Given the description of an element on the screen output the (x, y) to click on. 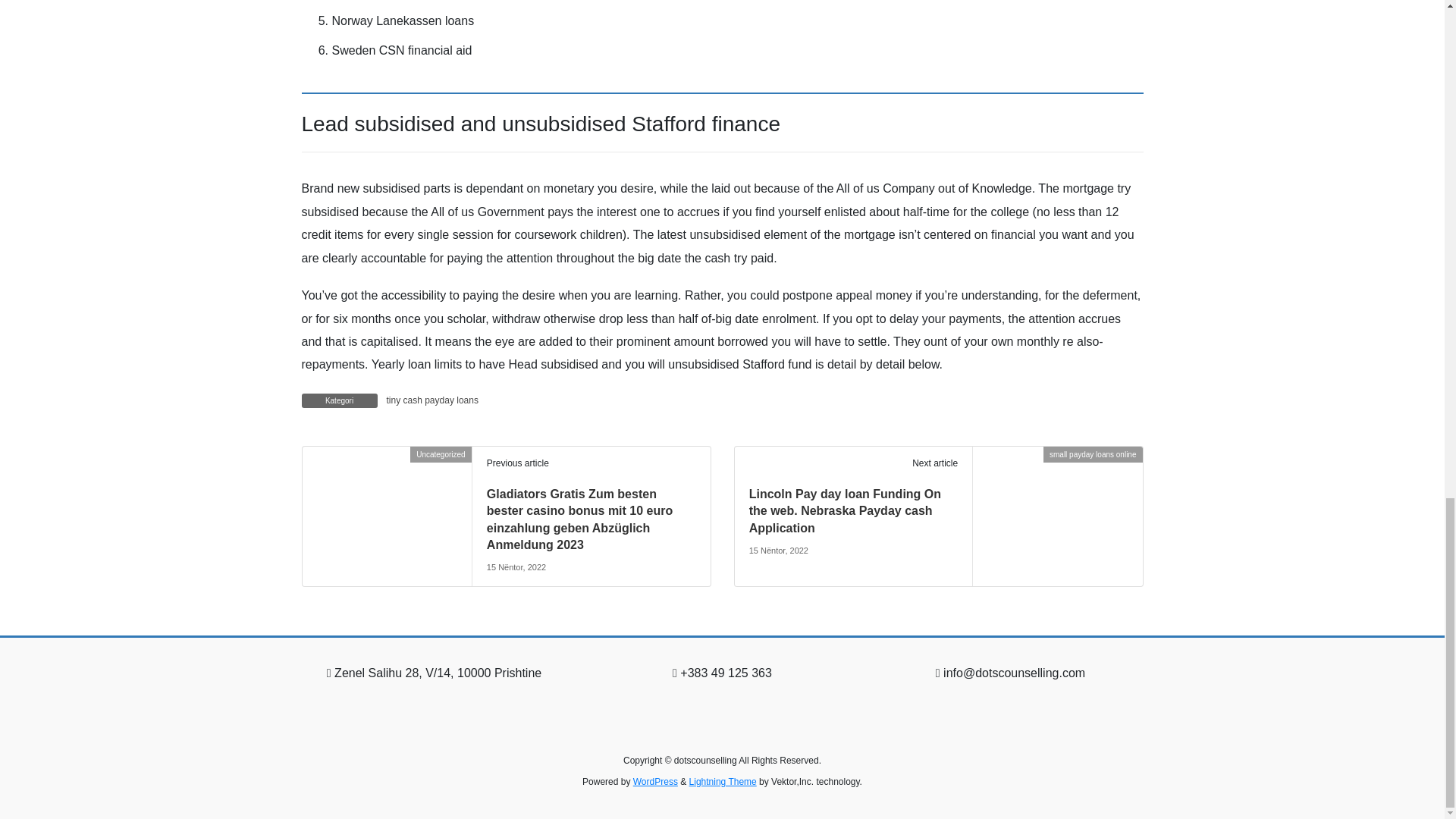
WordPress (655, 781)
Free WordPress Theme Lightning (722, 781)
Lightning Theme (722, 781)
tiny cash payday loans (432, 400)
